Given the description of an element on the screen output the (x, y) to click on. 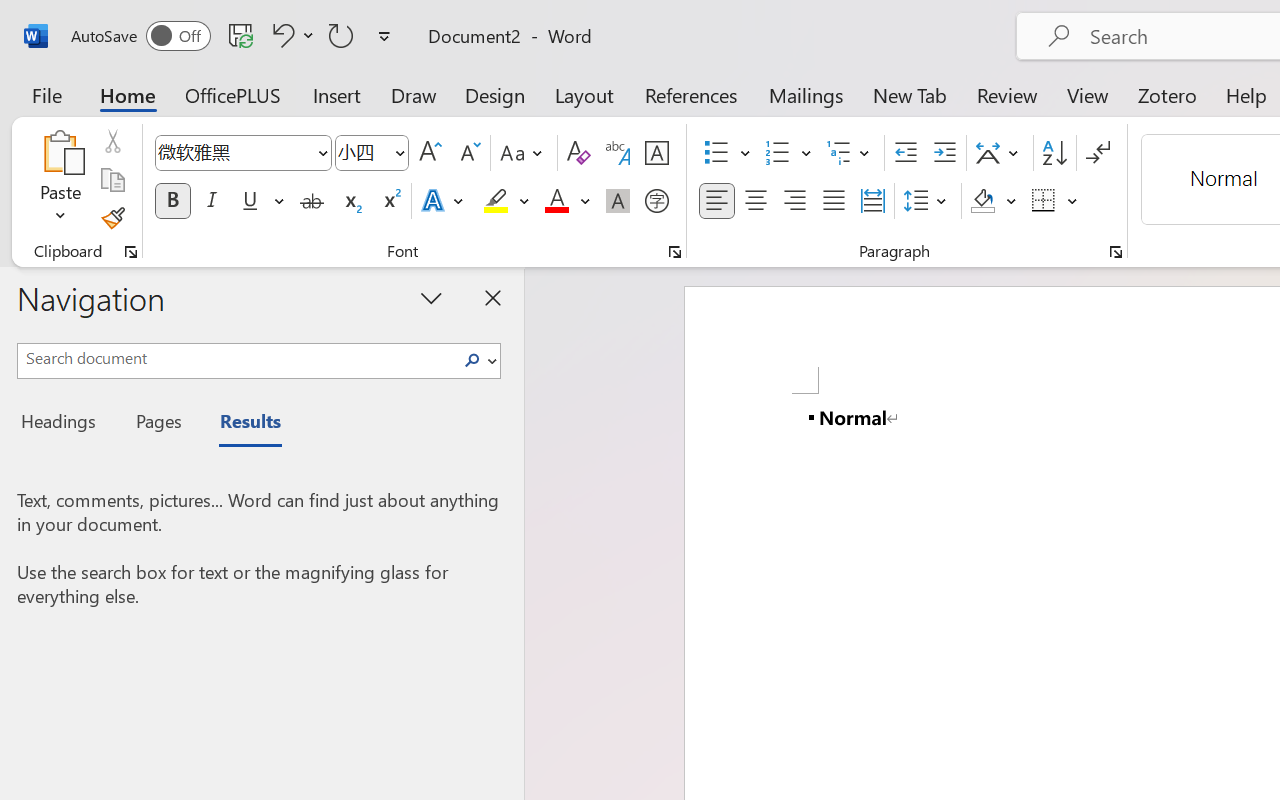
View (1087, 94)
Format Painter (112, 218)
Center (756, 201)
Font... (675, 252)
Font (242, 153)
Search document (236, 358)
Change Case (524, 153)
Font Color (567, 201)
Text Effects and Typography (444, 201)
Undo <ApplyStyleToDoc>b__0 (290, 35)
References (690, 94)
Draw (413, 94)
Font (234, 152)
Justify (834, 201)
Pages (156, 424)
